Given the description of an element on the screen output the (x, y) to click on. 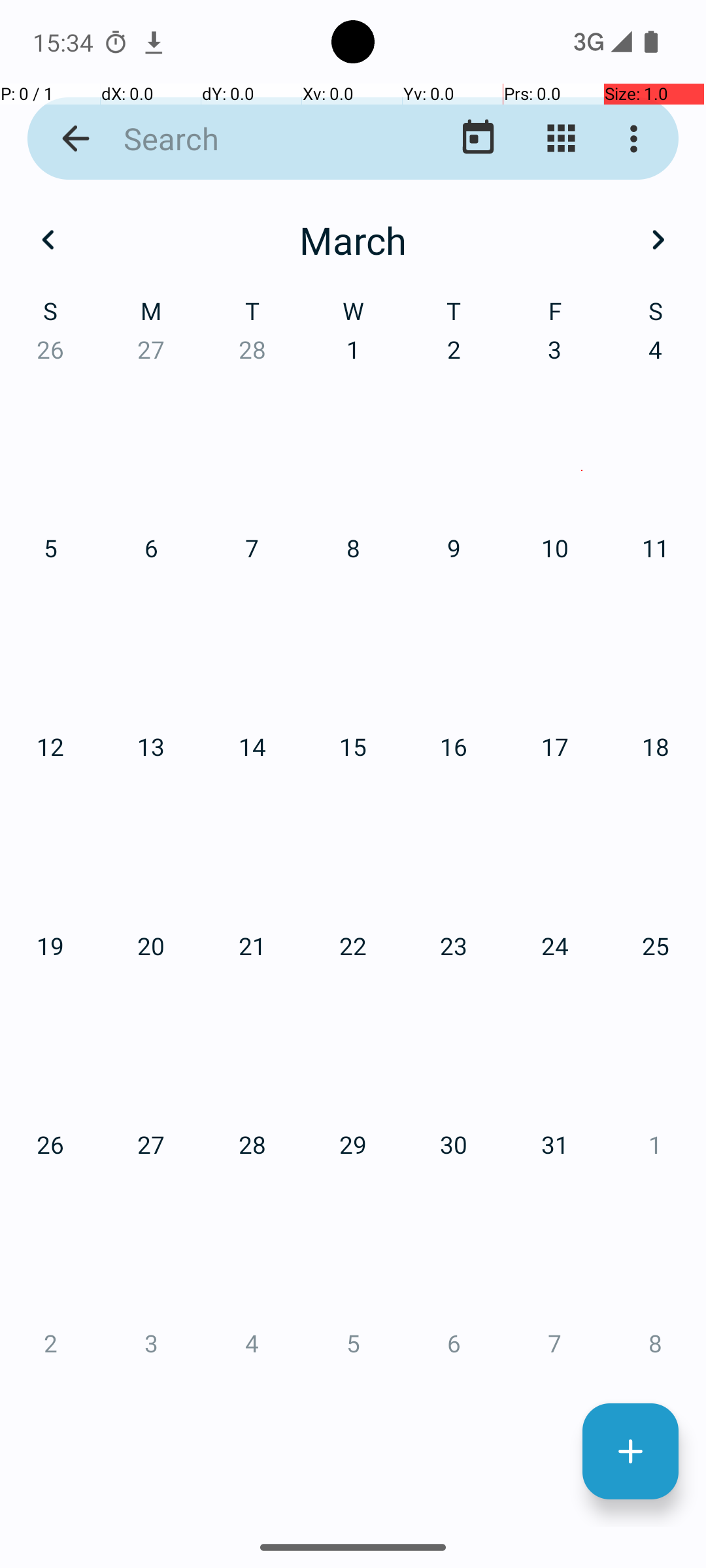
March Element type: android.widget.TextView (352, 239)
